Given the description of an element on the screen output the (x, y) to click on. 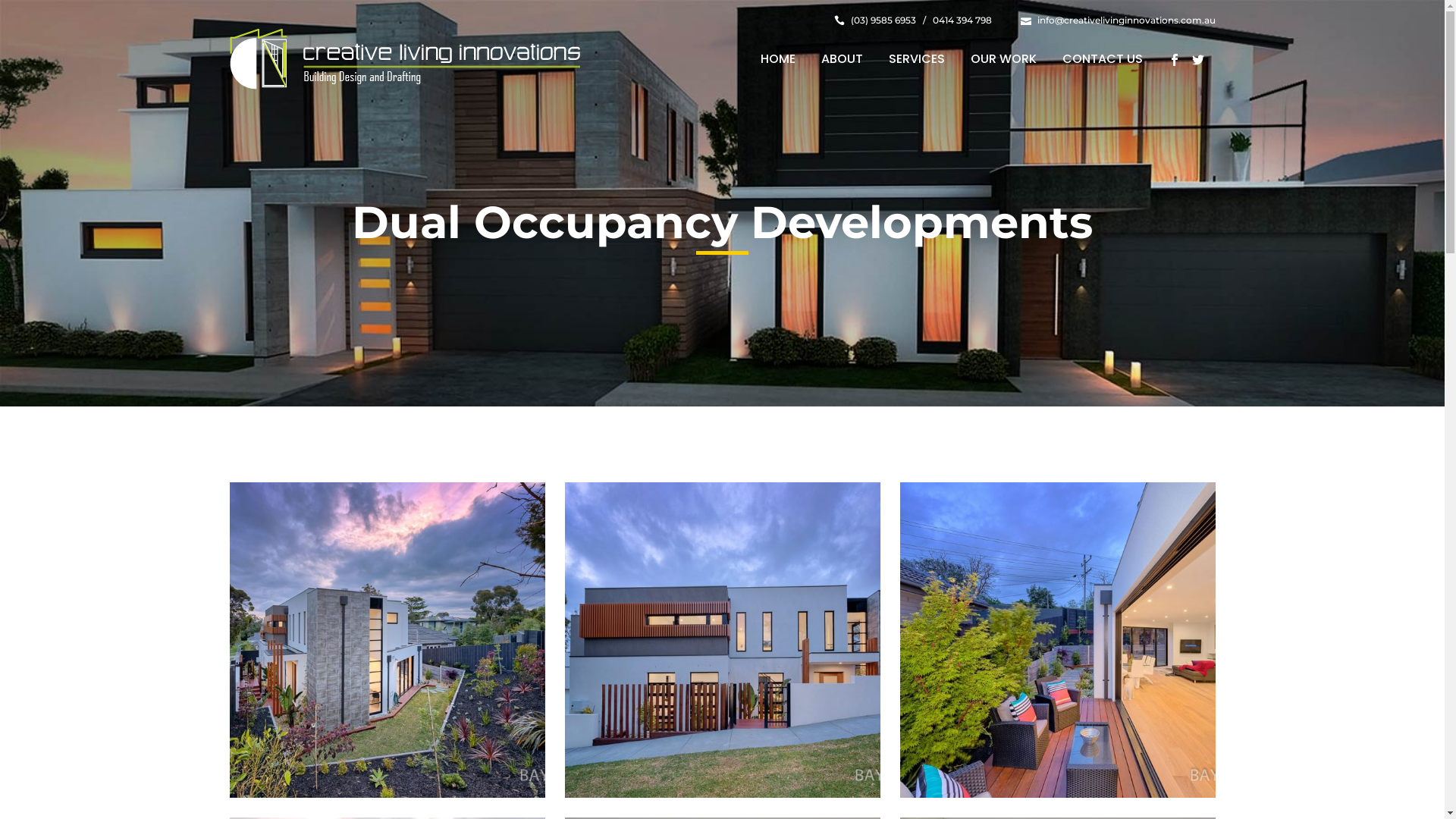
HOME Element type: text (777, 59)
OUR WORK Element type: text (1002, 59)
info@creativelivinginnovations.com.au Element type: text (1126, 19)
SERVICES Element type: text (916, 59)
ABOUT Element type: text (841, 59)
CONTACT US Element type: text (1102, 59)
